Given the description of an element on the screen output the (x, y) to click on. 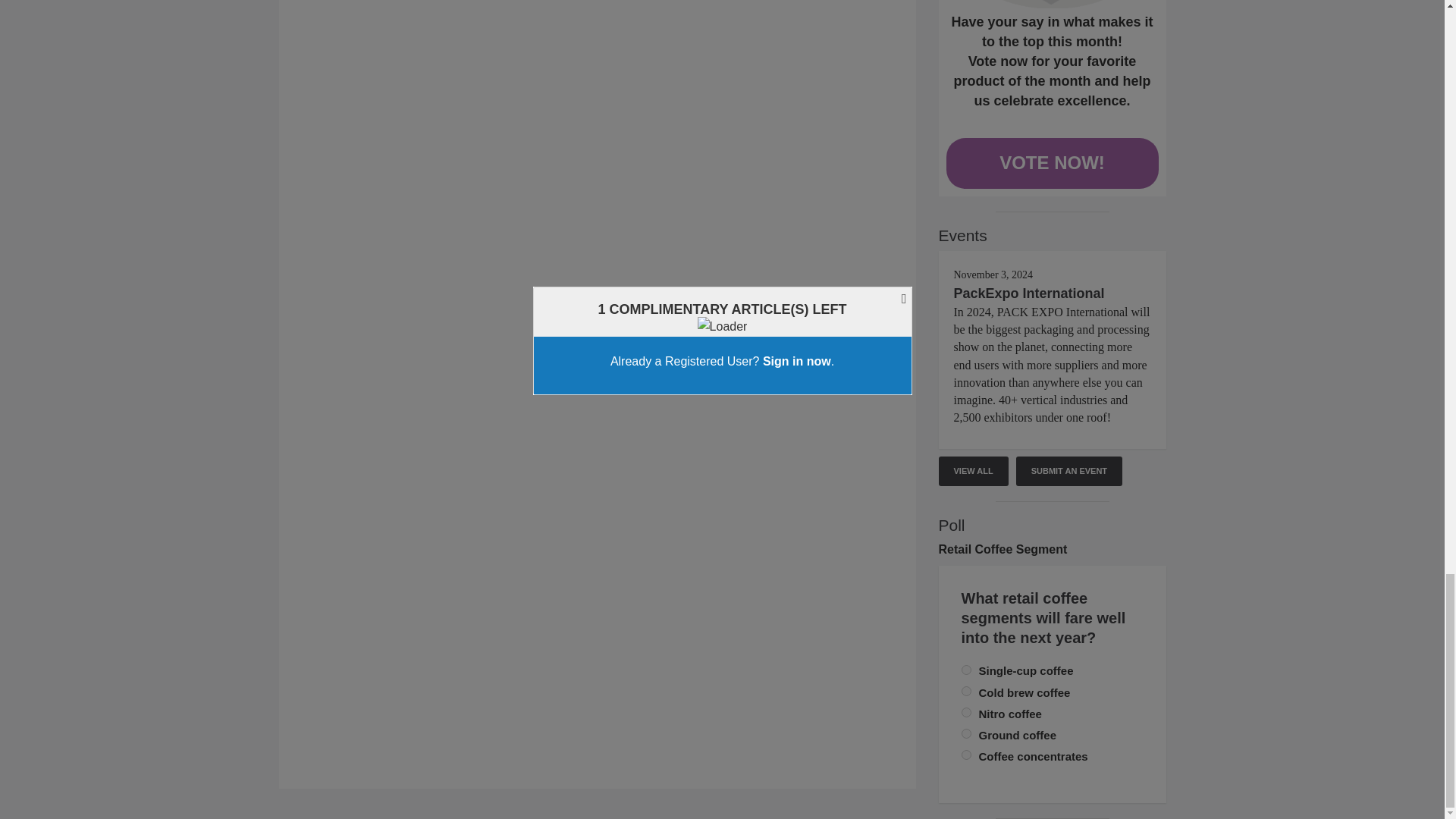
3095 (965, 755)
3096 (965, 733)
PackExpo International (1029, 293)
Vote (1052, 4)
3093 (965, 691)
3094 (965, 712)
3092 (965, 669)
